Given the description of an element on the screen output the (x, y) to click on. 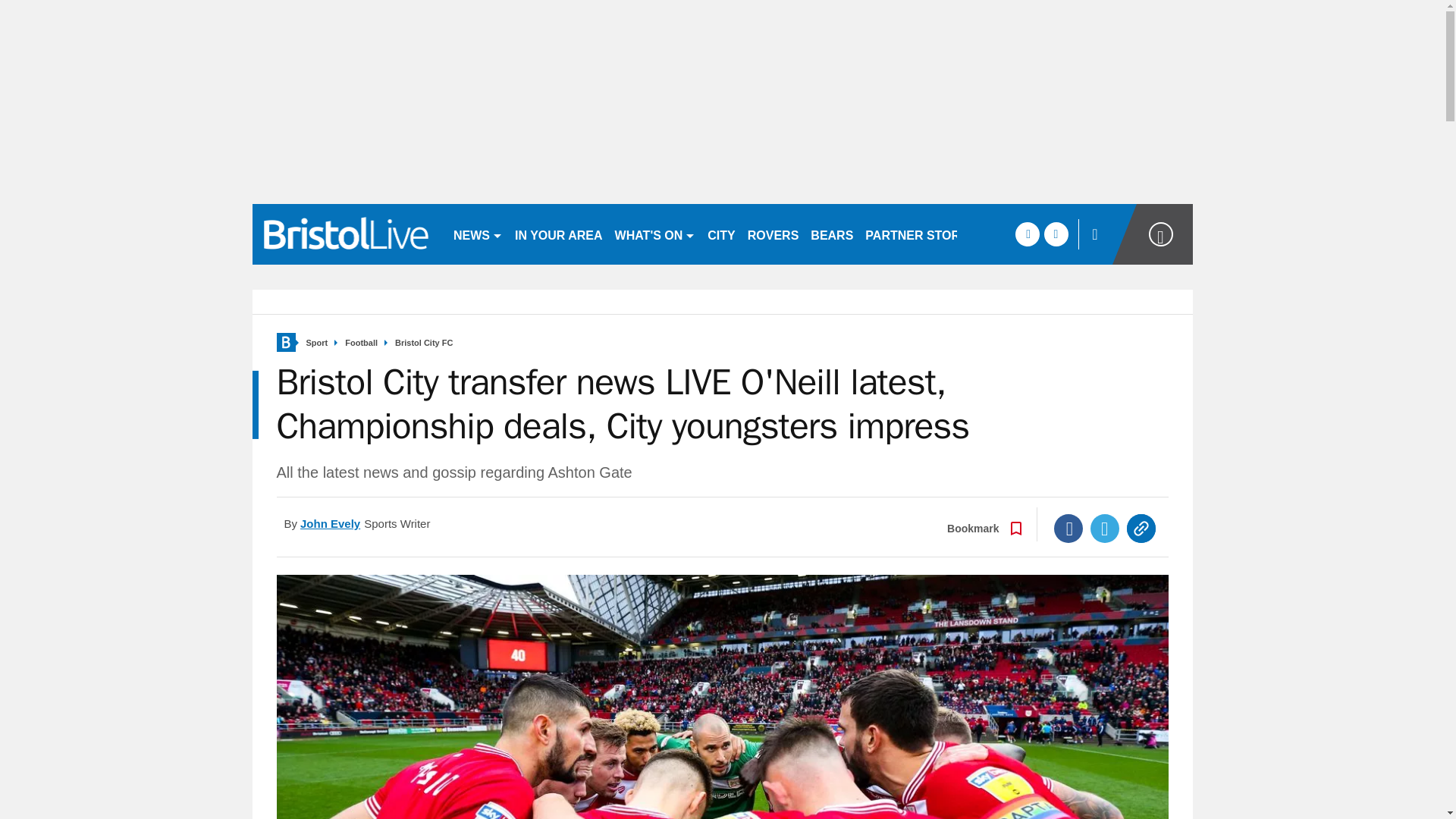
bristolpost (345, 233)
NEWS (477, 233)
facebook (1026, 233)
IN YOUR AREA (558, 233)
ROVERS (773, 233)
PARTNER STORIES (922, 233)
WHAT'S ON (654, 233)
Facebook (1068, 528)
BEARS (832, 233)
Twitter (1104, 528)
